Given the description of an element on the screen output the (x, y) to click on. 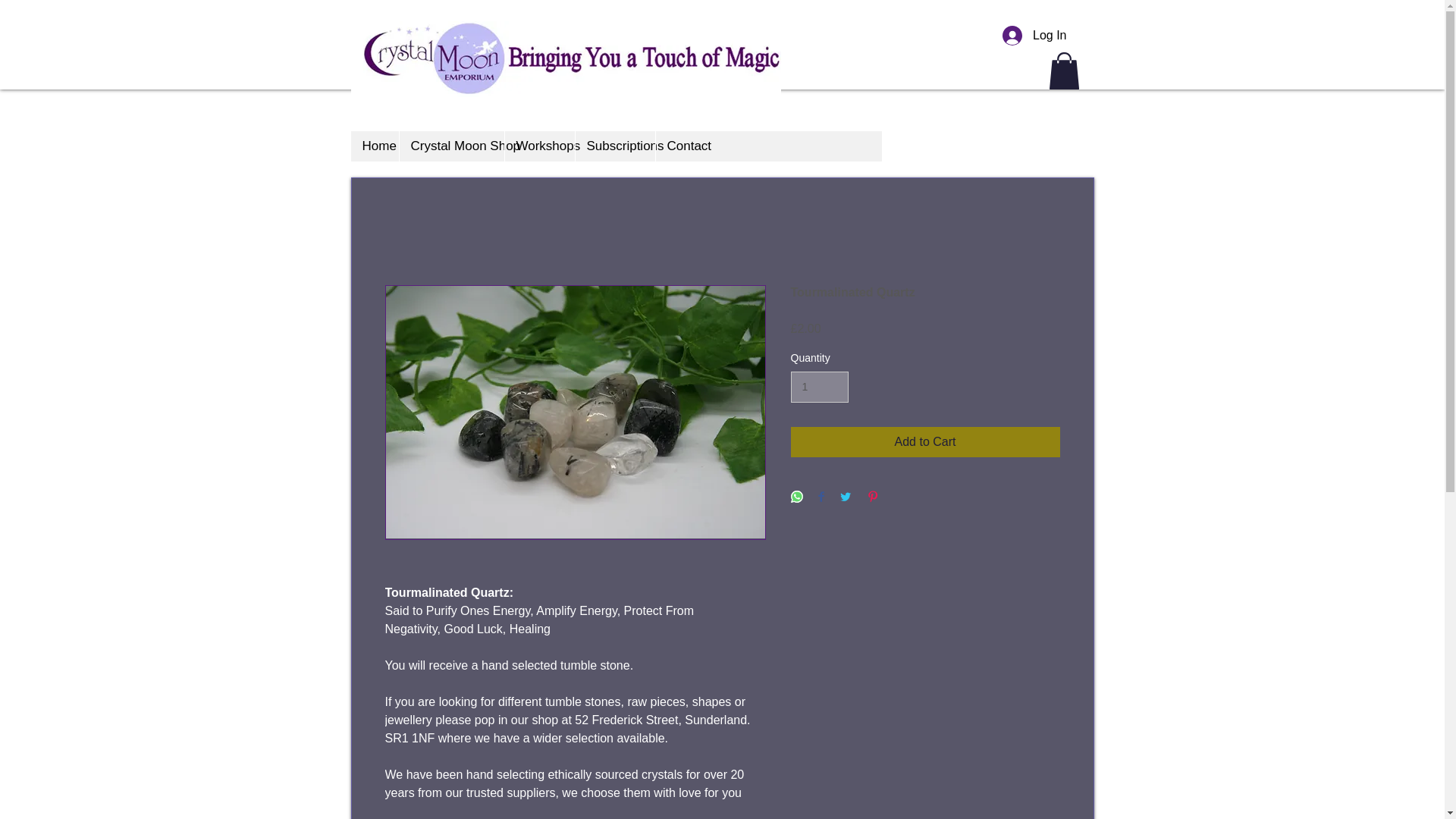
Subscriptions (615, 146)
1 (818, 386)
Log In (1034, 35)
Workshops (538, 146)
Crystal Moon Shop (450, 146)
Home (373, 146)
Add to Cart (924, 441)
Contact (683, 146)
